Given the description of an element on the screen output the (x, y) to click on. 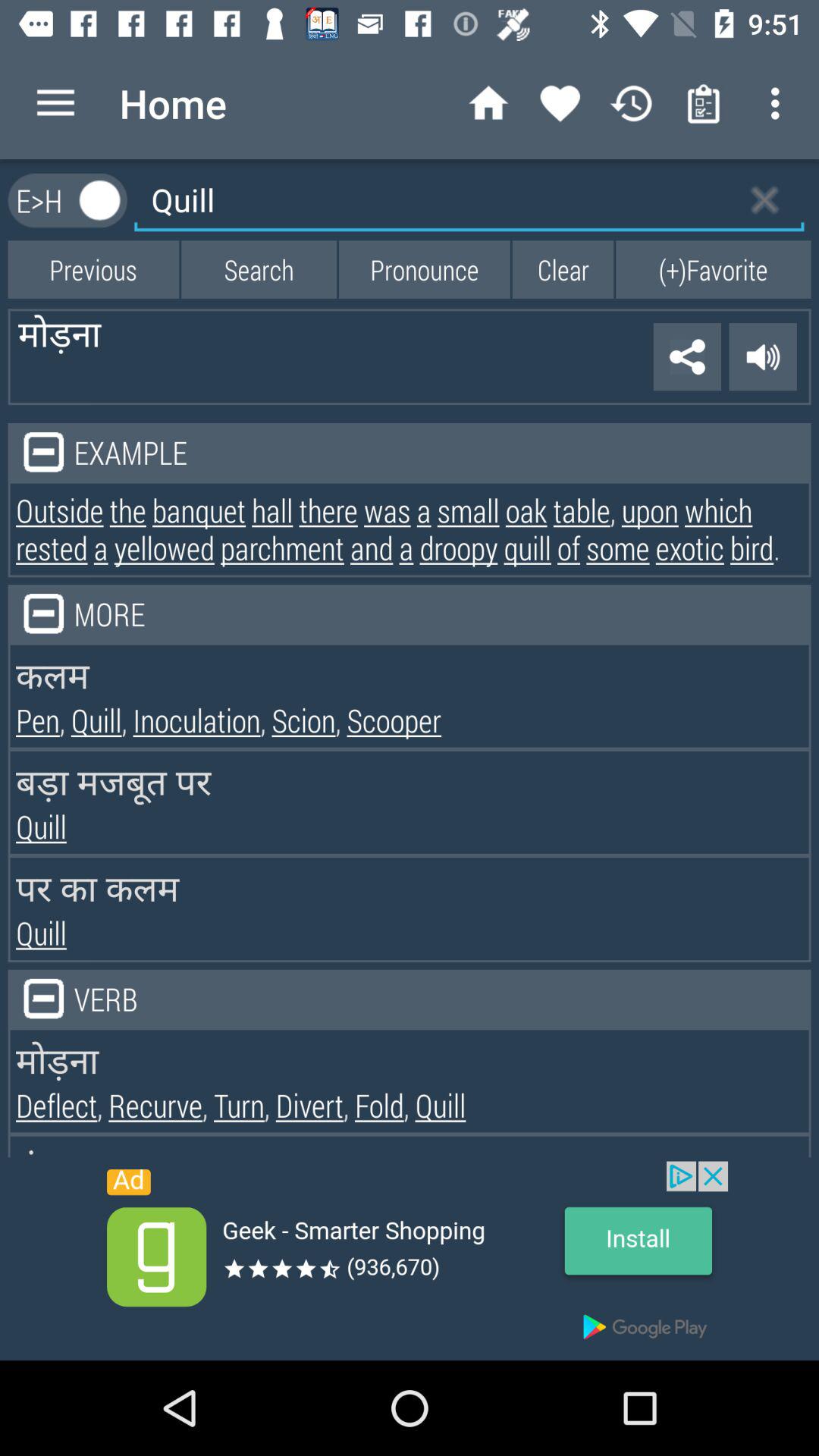
click on the second text under more (409, 719)
